Given the description of an element on the screen output the (x, y) to click on. 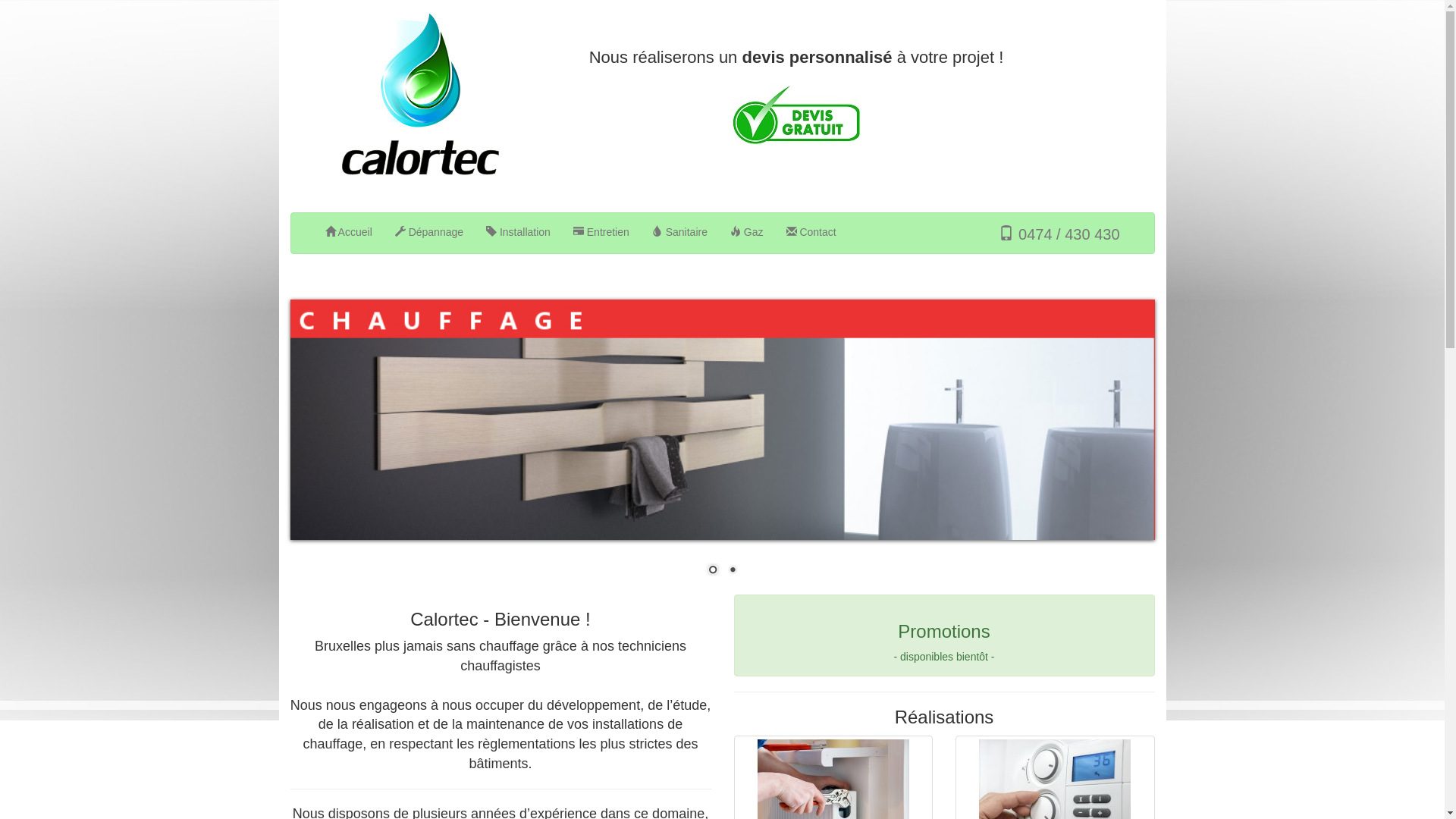
Contact Element type: text (811, 232)
Entretien Element type: text (600, 232)
2 Element type: text (731, 570)
1 Element type: text (711, 570)
Accueil Element type: text (348, 232)
0474 / 430 430 Element type: text (1058, 233)
Installation Element type: text (517, 232)
Gaz Element type: text (746, 232)
Sanitaire Element type: text (679, 232)
